Given the description of an element on the screen output the (x, y) to click on. 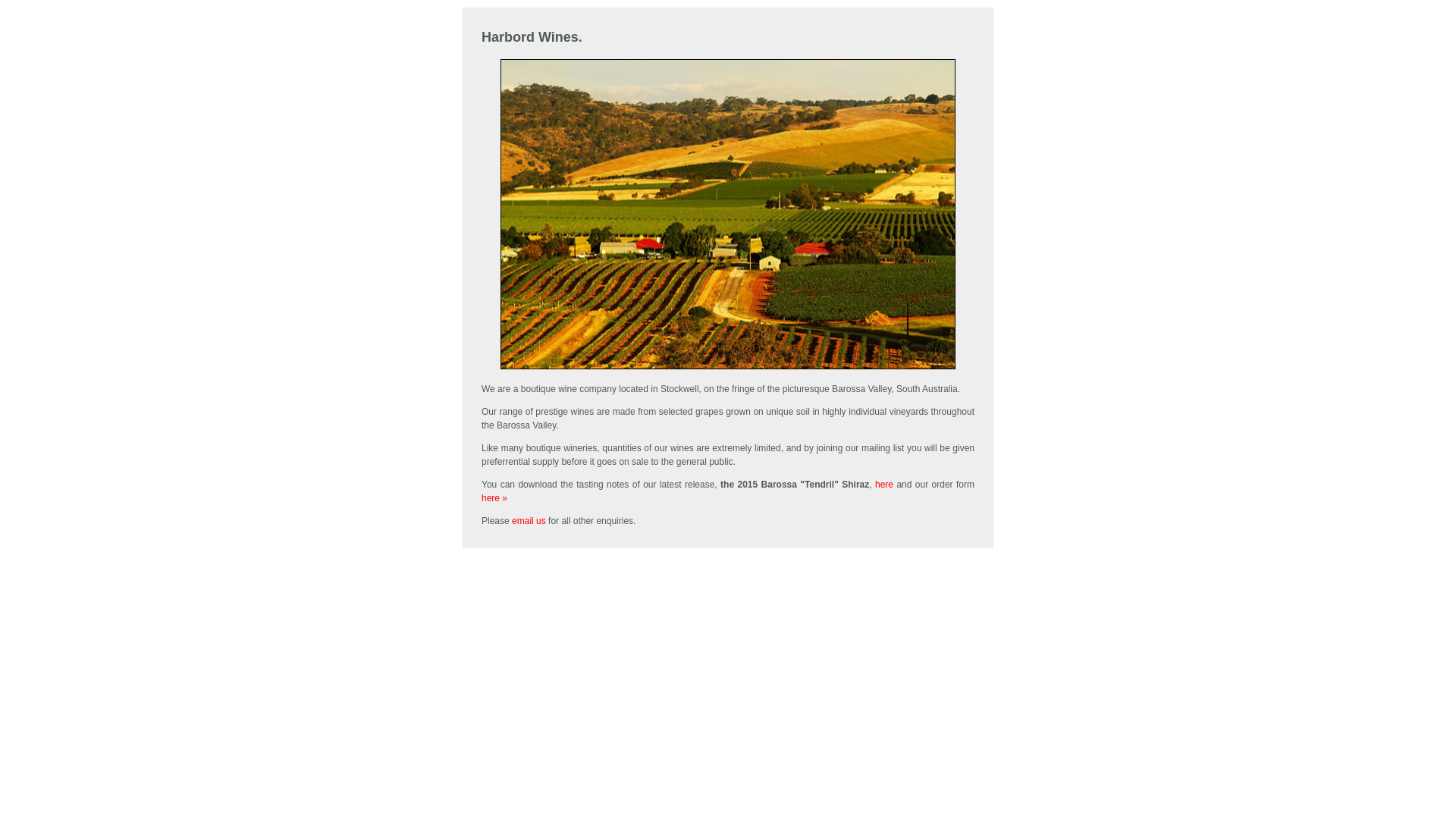
here Element type: text (884, 484)
email us Element type: text (528, 520)
